Given the description of an element on the screen output the (x, y) to click on. 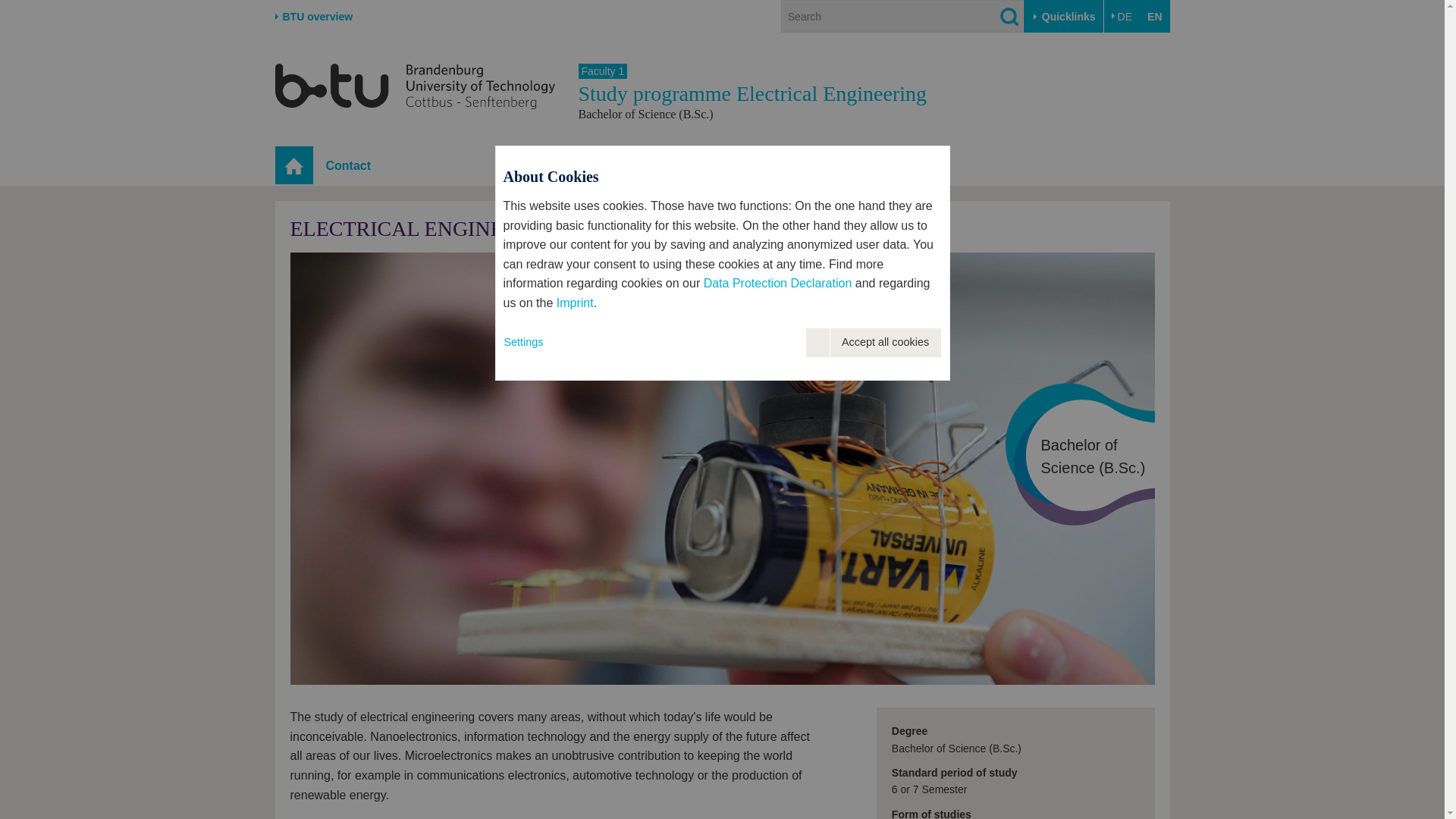
DE (1121, 16)
Quicklinks (1063, 16)
BTU overview (313, 16)
